Given the description of an element on the screen output the (x, y) to click on. 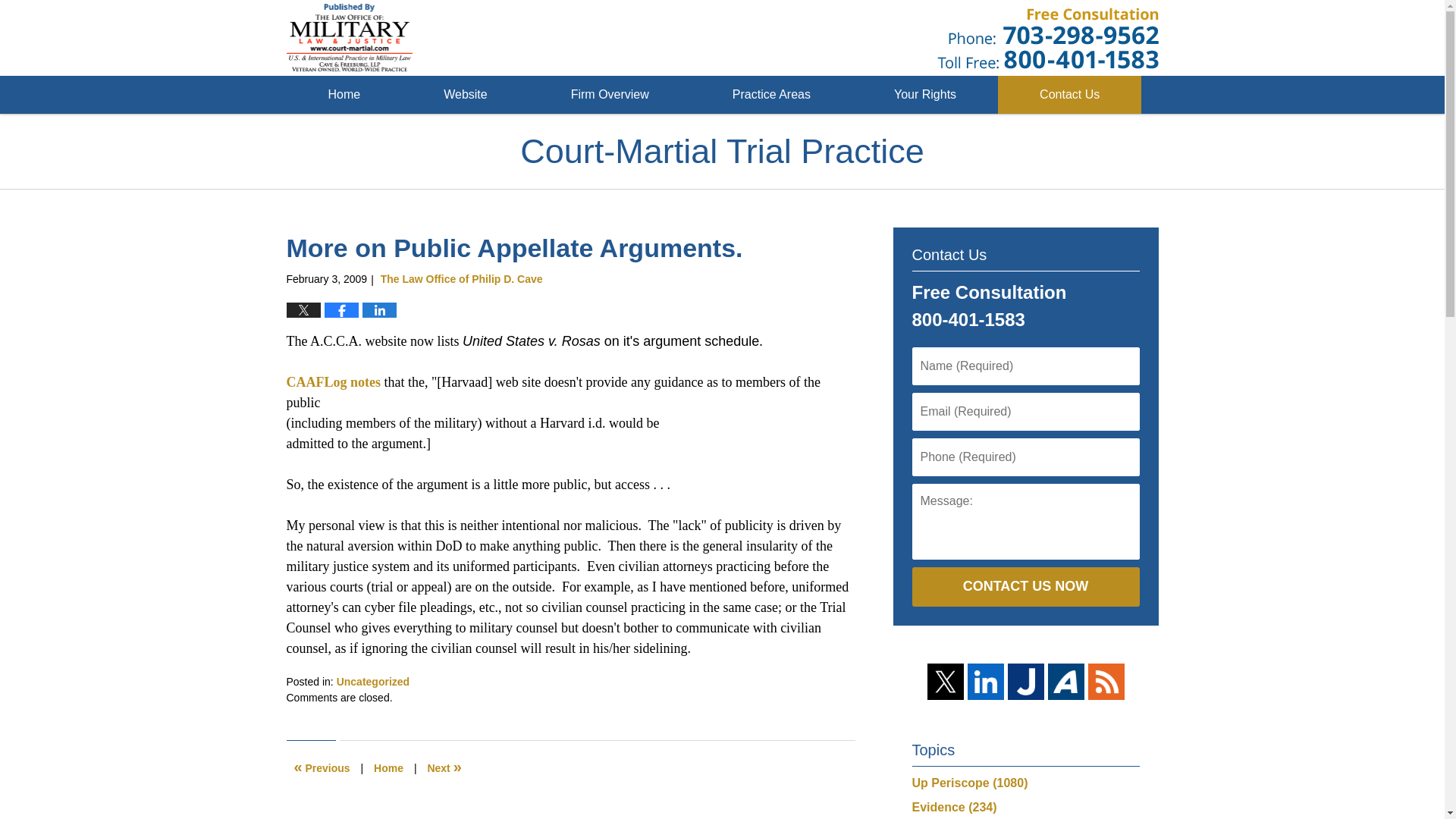
Your Rights (924, 94)
CAAFLog notes (333, 381)
Contact Us (1069, 94)
Court-Martial Trial Practice Blog (349, 38)
LinkedIn (986, 681)
CONTACT US NOW (1024, 586)
Home (388, 768)
Appellate Argument Closed to Public? (322, 768)
Uncategorized (372, 681)
Published By The Law Office of Philip D. Cave (1047, 37)
Justia (1025, 681)
Practice Areas (770, 94)
Please enter a valid phone number. (1024, 456)
Feed (1105, 681)
View all posts in Uncategorized (372, 681)
